Given the description of an element on the screen output the (x, y) to click on. 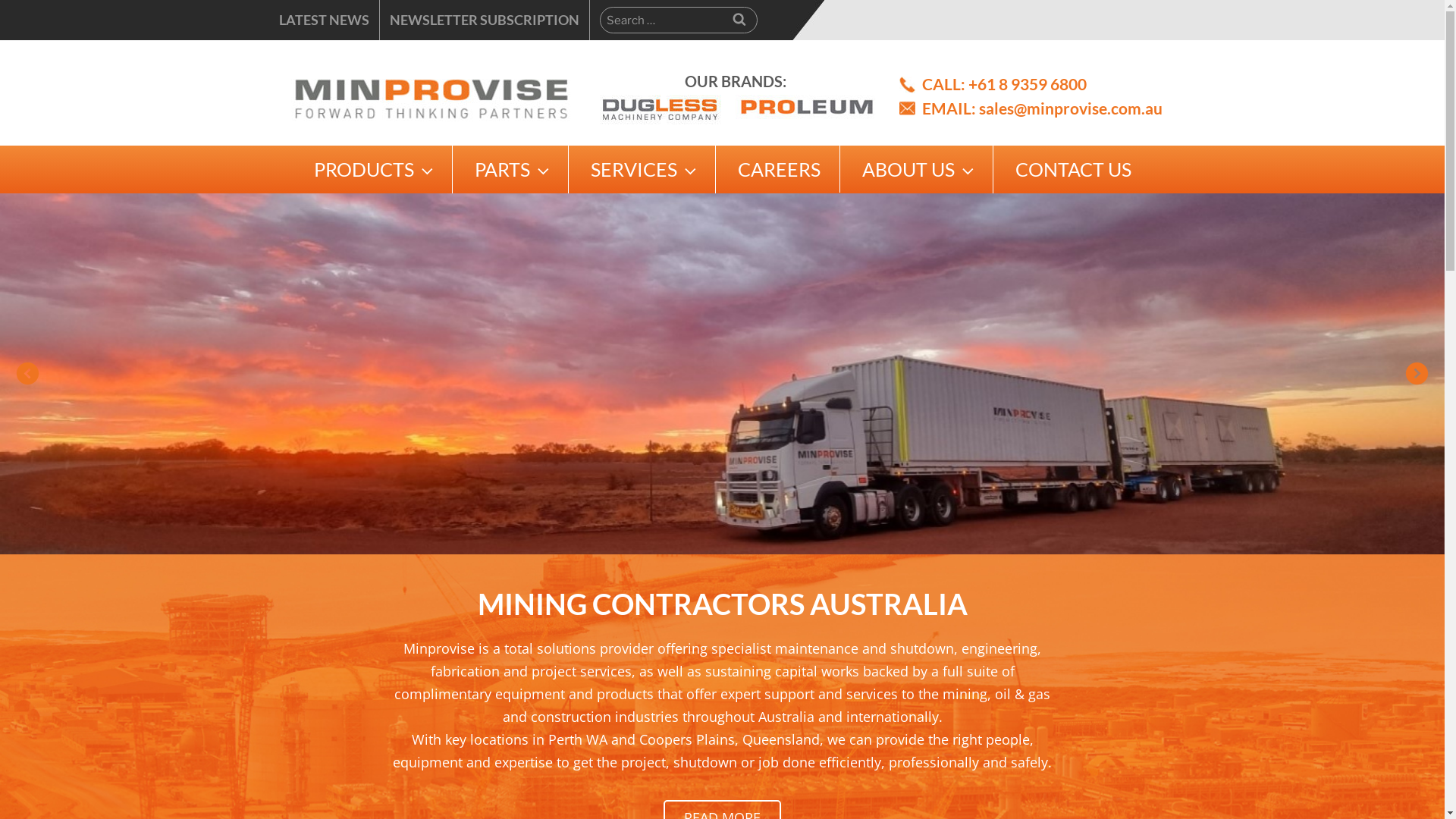
ABOUT US Element type: text (917, 169)
CALL: +61 8 9359 6800 Element type: text (1004, 83)
EMAIL: sales@minprovise.com.au Element type: text (1042, 107)
CONTACT US Element type: text (1073, 168)
SERVICES Element type: text (643, 169)
Search Element type: text (738, 19)
PRODUCTS Element type: text (372, 169)
NEWSLETTER SUBSCRIPTION Element type: text (484, 19)
Skip to content Element type: text (0, 0)
CAREERS Element type: text (778, 168)
LATEST NEWS Element type: text (324, 19)
PARTS Element type: text (511, 169)
